Given the description of an element on the screen output the (x, y) to click on. 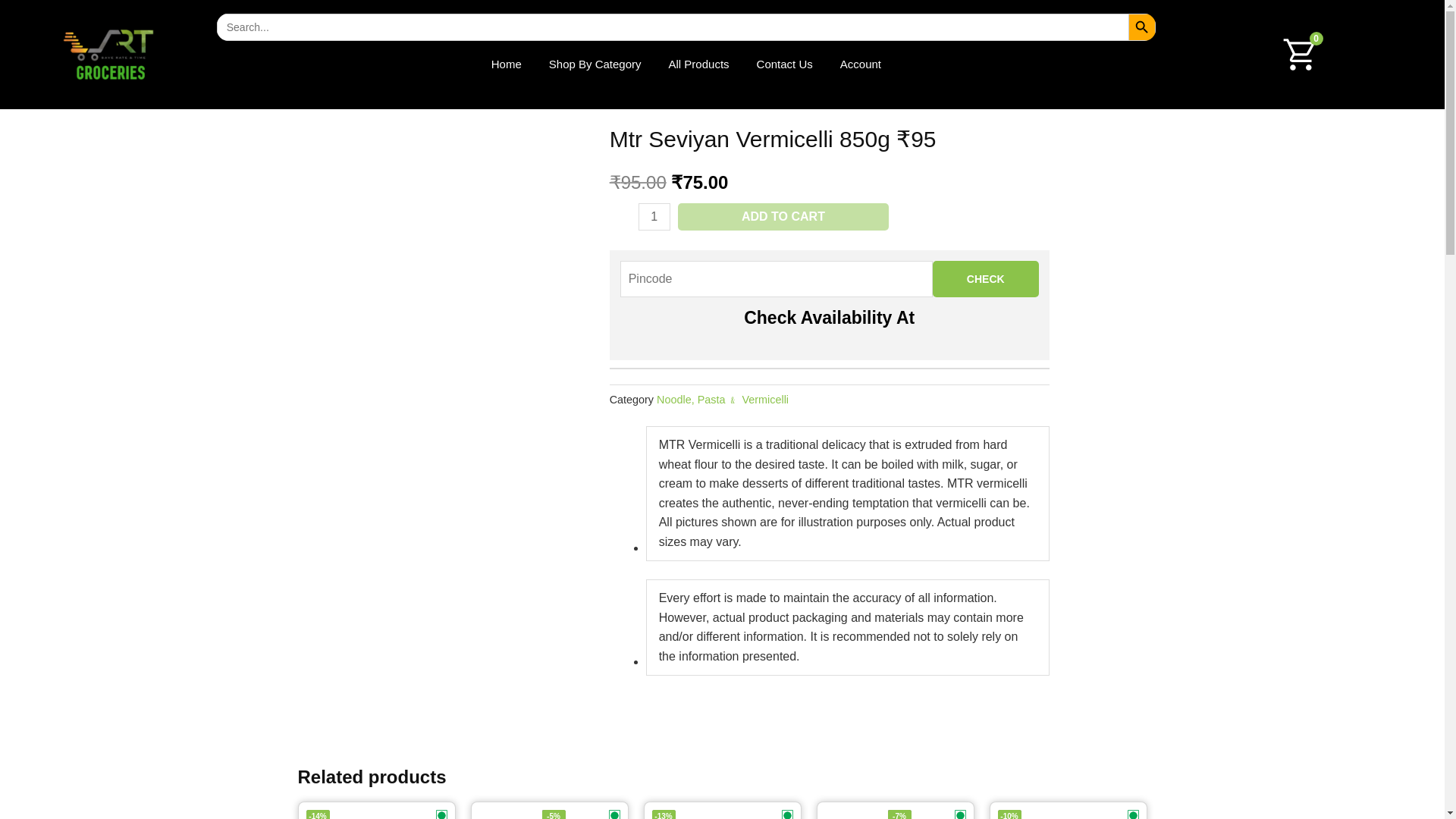
Shop By Category (595, 64)
SEARCH BUTTON (1142, 26)
Home (506, 64)
1 (654, 216)
Check (986, 279)
